Given the description of an element on the screen output the (x, y) to click on. 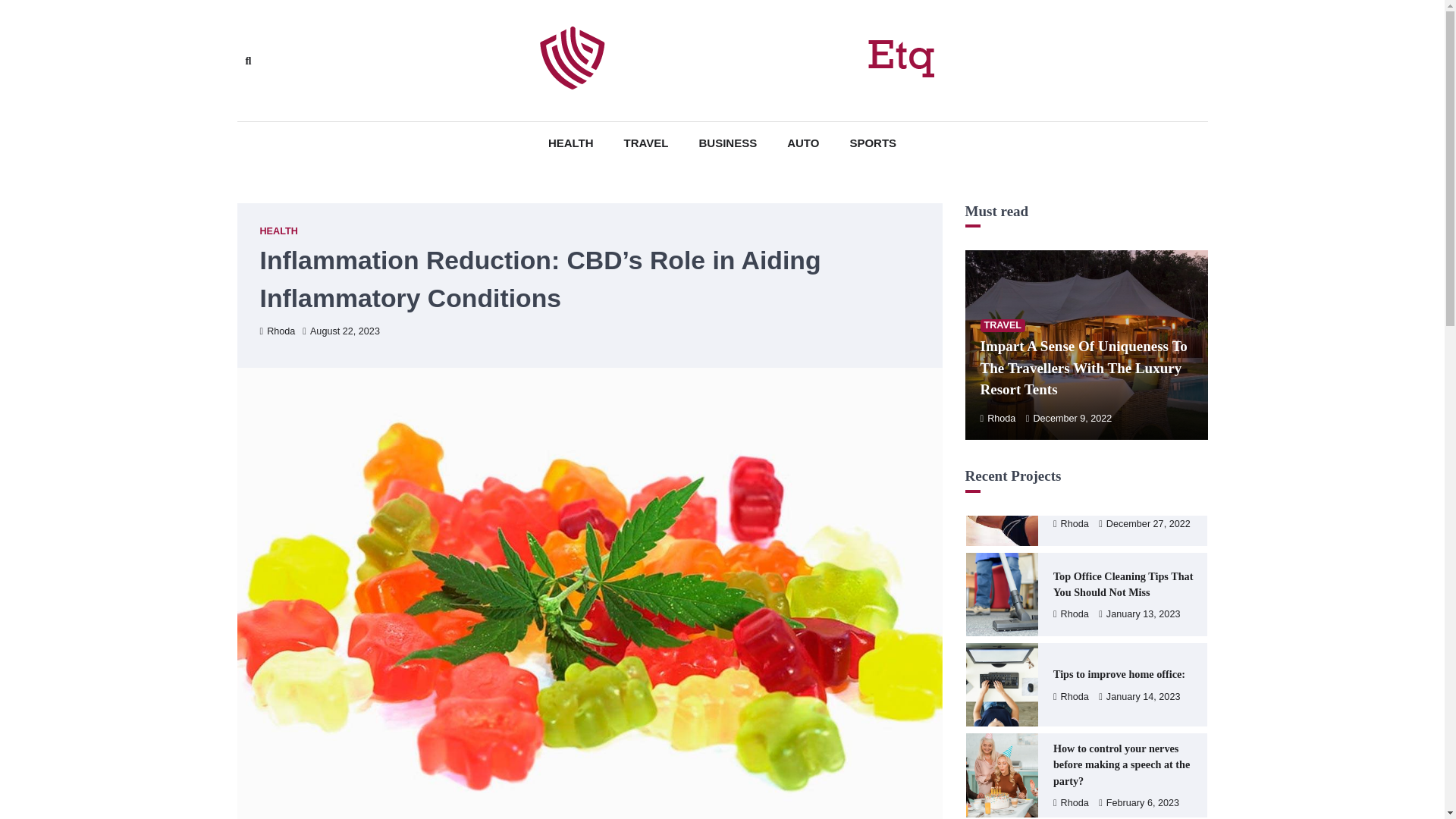
August 22, 2023 (341, 330)
Rhoda (277, 330)
HEALTH (278, 231)
TRAVEL (646, 143)
BUSINESS (728, 143)
Search (247, 60)
TRAVEL (1002, 325)
SPORTS (872, 143)
AUTO (802, 143)
HEALTH (570, 143)
Rhoda (996, 418)
Search (443, 95)
December 9, 2022 (1069, 418)
